Given the description of an element on the screen output the (x, y) to click on. 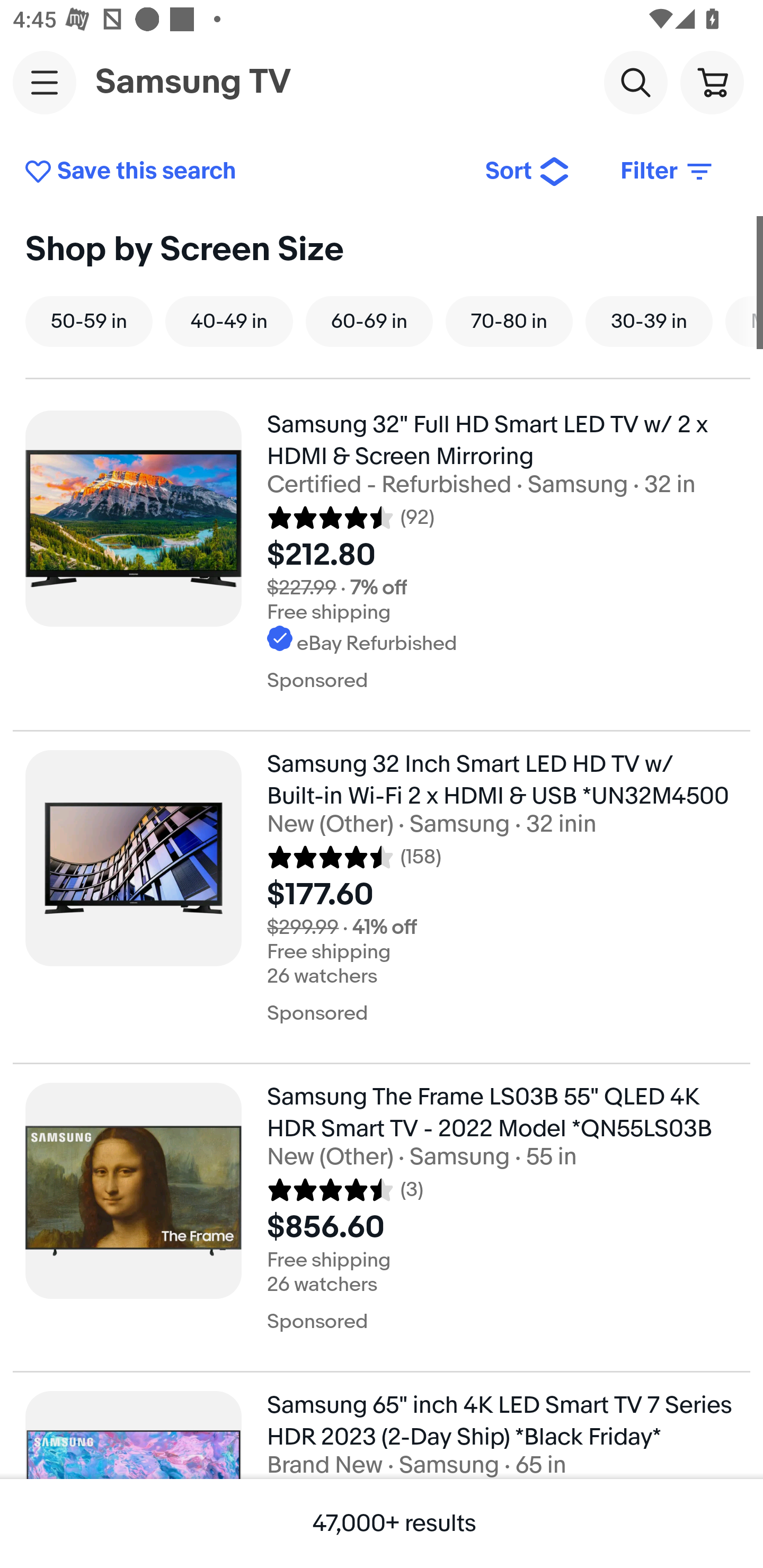
Main navigation, open (44, 82)
Search (635, 81)
Cart button shopping cart (711, 81)
Save this search (241, 171)
Sort (527, 171)
Filter (667, 171)
50-59 in 50-59 in, Screen Size (88, 321)
40-49 in 40-49 in, Screen Size (228, 321)
60-69 in 60-69 in, Screen Size (368, 321)
70-80 in 70-80 in, Screen Size (509, 321)
30-39 in 30-39 in, Screen Size (648, 321)
